Given the description of an element on the screen output the (x, y) to click on. 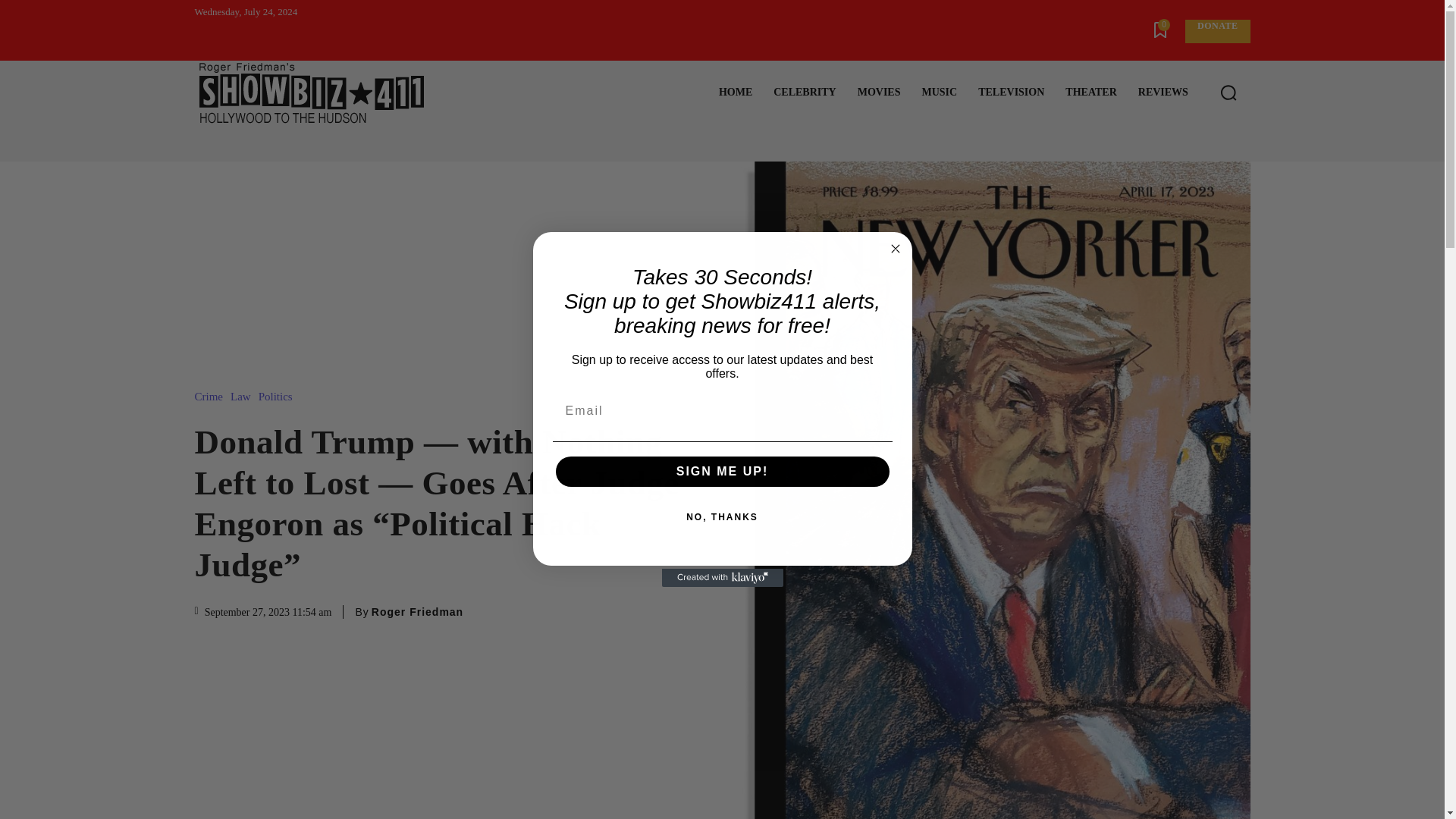
DONATE (1217, 31)
THEATER (1090, 92)
REVIEWS (1162, 92)
MOVIES (879, 92)
MUSIC (939, 92)
Donate (1217, 31)
HOME (734, 92)
CELEBRITY (803, 92)
TELEVISION (1011, 92)
Crime (211, 396)
